Given the description of an element on the screen output the (x, y) to click on. 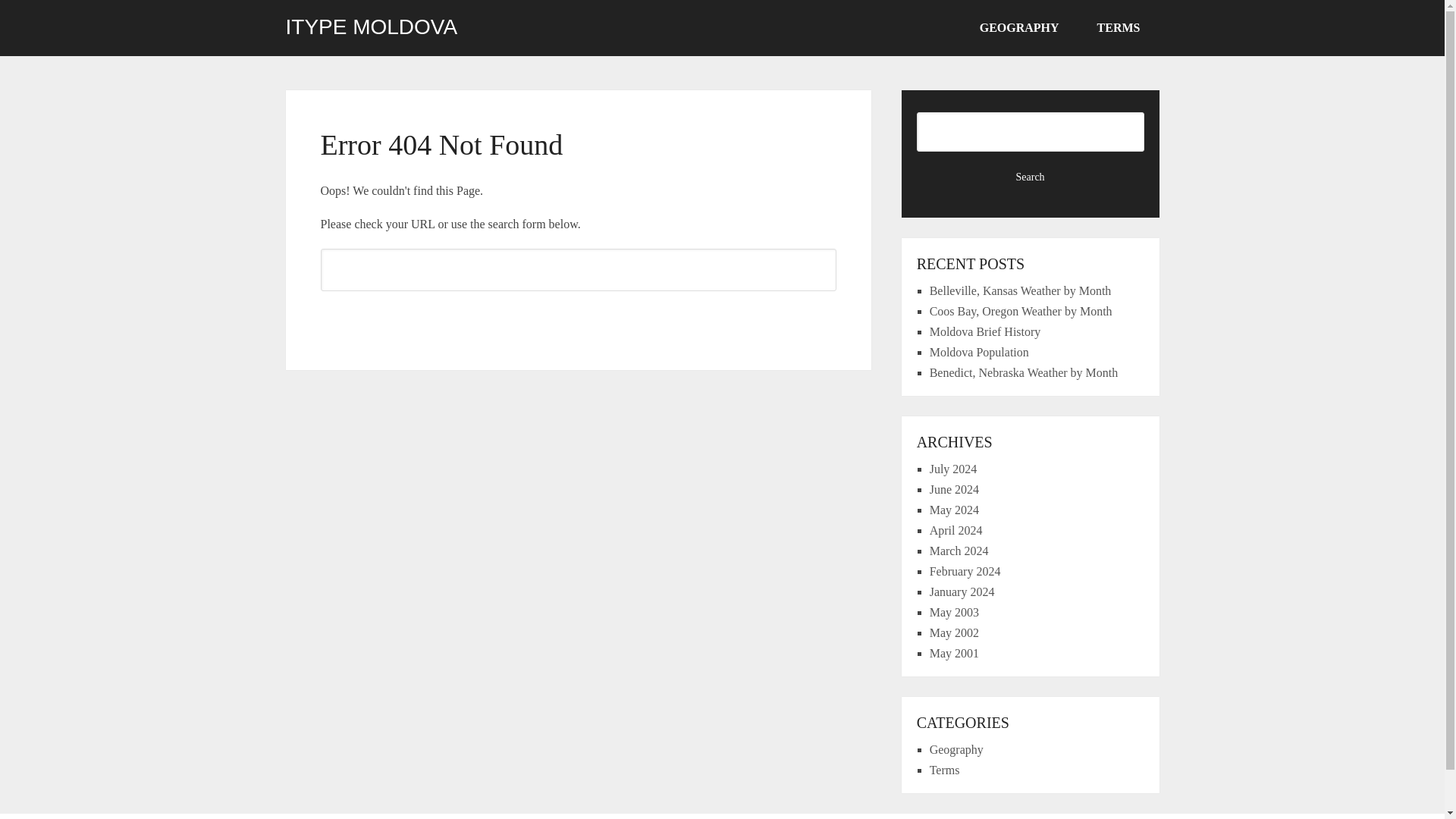
ITYPE MOLDOVA (371, 26)
Moldova Brief History (985, 331)
January 2024 (962, 591)
Moldova Population (979, 351)
February 2024 (965, 571)
June 2024 (954, 489)
Benedict, Nebraska Weather by Month (1024, 372)
Coos Bay, Oregon Weather by Month (1021, 310)
GEOGRAPHY (1019, 28)
July 2024 (953, 468)
Search (1030, 176)
Search (577, 316)
Search (1030, 176)
May 2002 (954, 632)
